Given the description of an element on the screen output the (x, y) to click on. 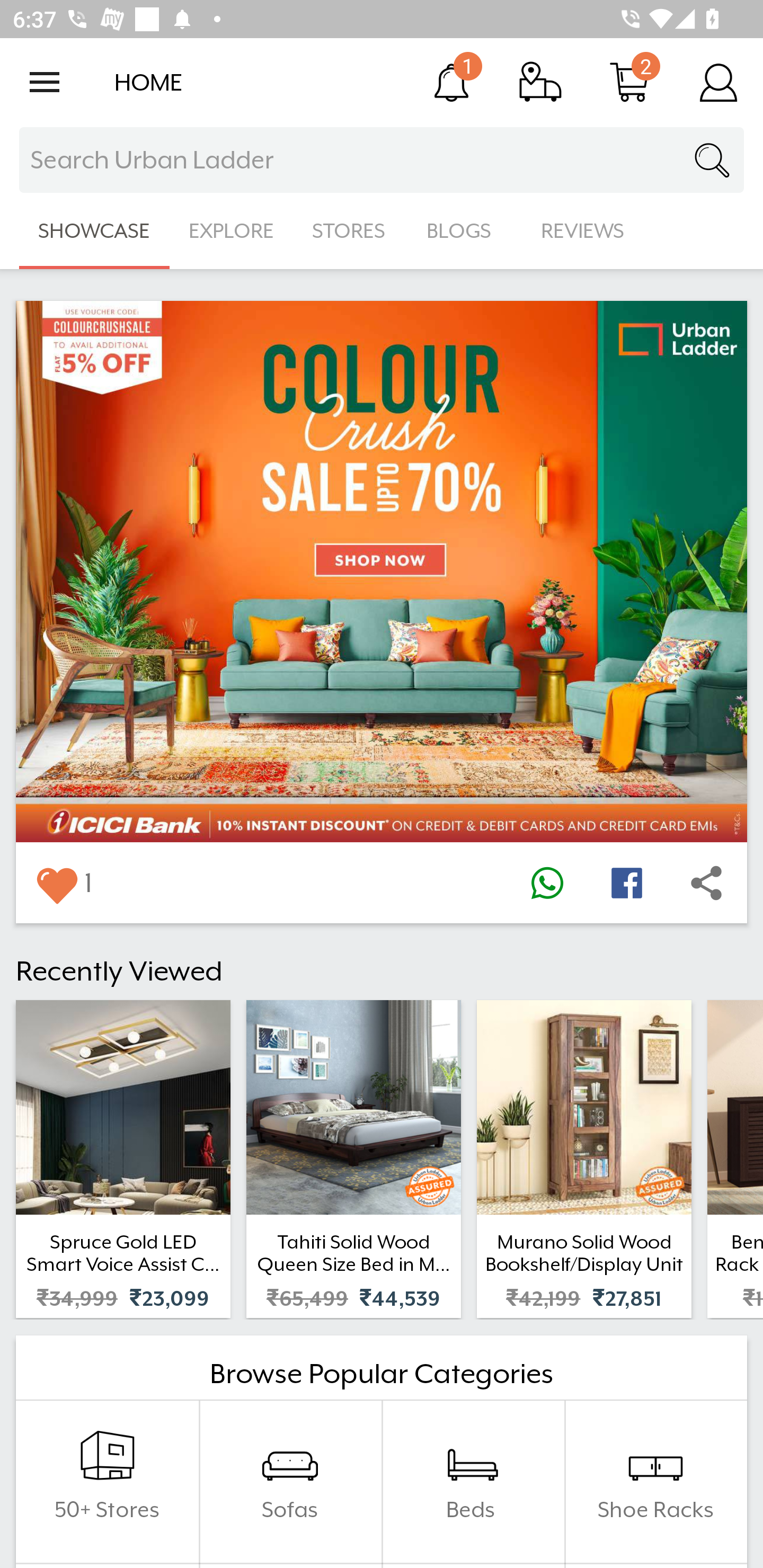
Open navigation drawer (44, 82)
Notification (450, 81)
Track Order (540, 81)
Cart (629, 81)
Account Details (718, 81)
Search Urban Ladder  (381, 159)
SHOWCASE (94, 230)
EXPLORE (230, 230)
STORES (349, 230)
BLOGS (464, 230)
REVIEWS (582, 230)
 (55, 882)
 (547, 882)
 (626, 882)
 (706, 882)
50+ Stores (106, 1481)
Sofas (289, 1481)
Beds  (473, 1481)
Shoe Racks (655, 1481)
